Given the description of an element on the screen output the (x, y) to click on. 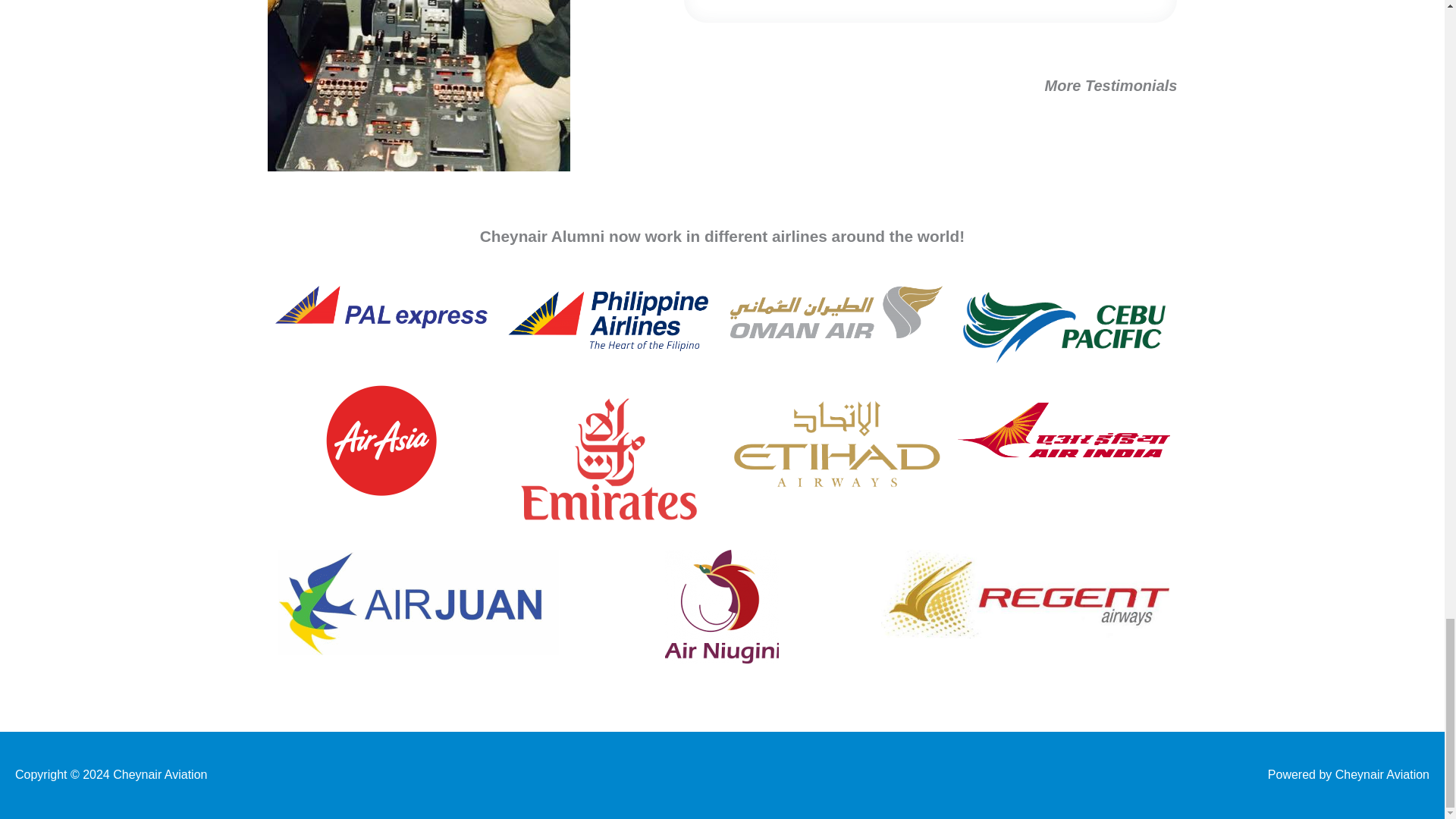
585e9ddbcb11b227491c34fc (608, 459)
